Given the description of an element on the screen output the (x, y) to click on. 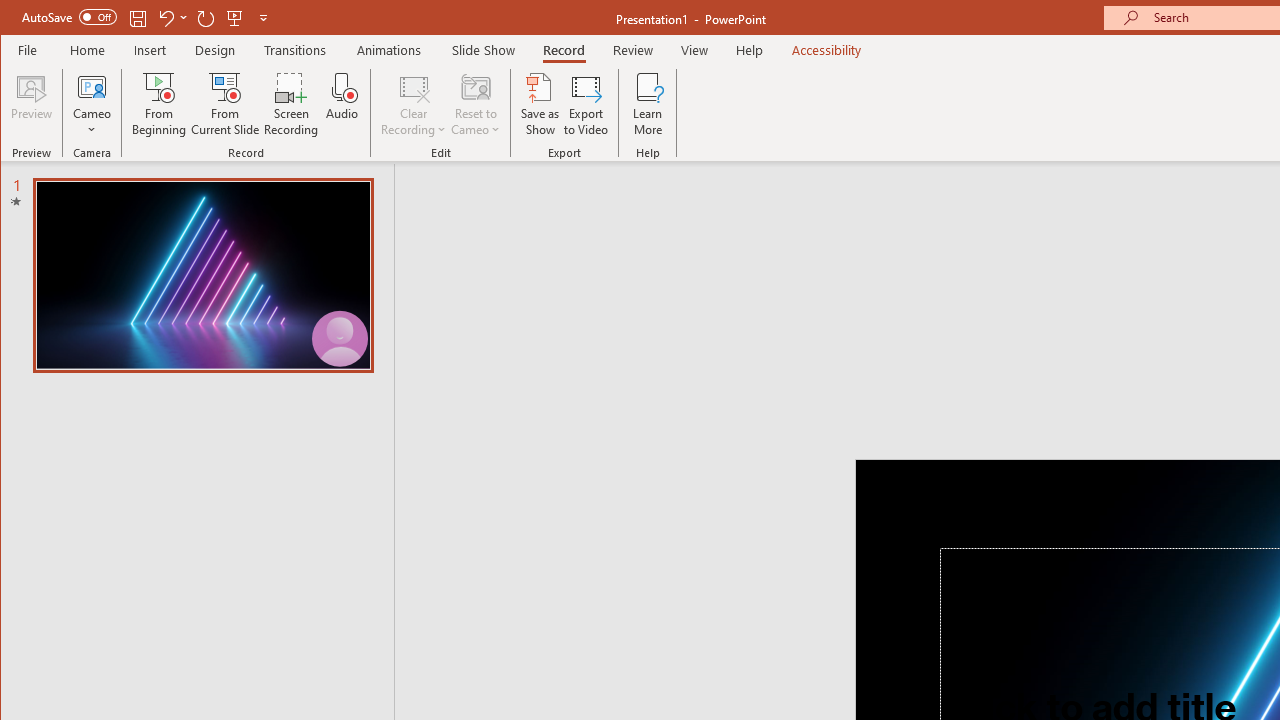
From Beginning... (159, 104)
Learn More (648, 104)
